Given the description of an element on the screen output the (x, y) to click on. 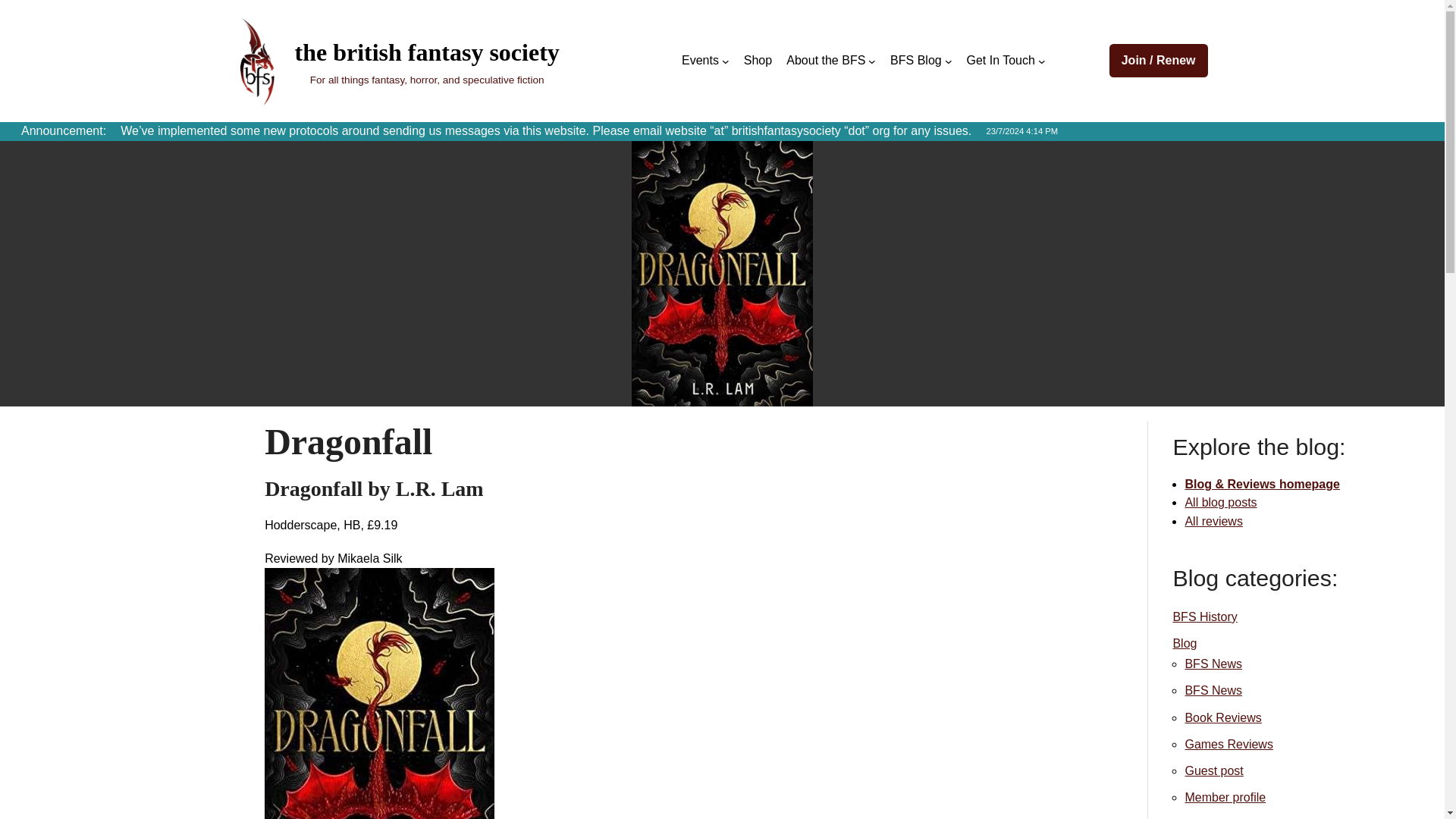
BFS Blog (915, 60)
All reviews (1213, 521)
About the BFS (825, 60)
Blog (1184, 643)
BFS History (1204, 616)
Events (700, 60)
the british fantasy society (426, 52)
Shop (757, 60)
Get In Touch (999, 60)
All blog posts (1220, 502)
